Given the description of an element on the screen output the (x, y) to click on. 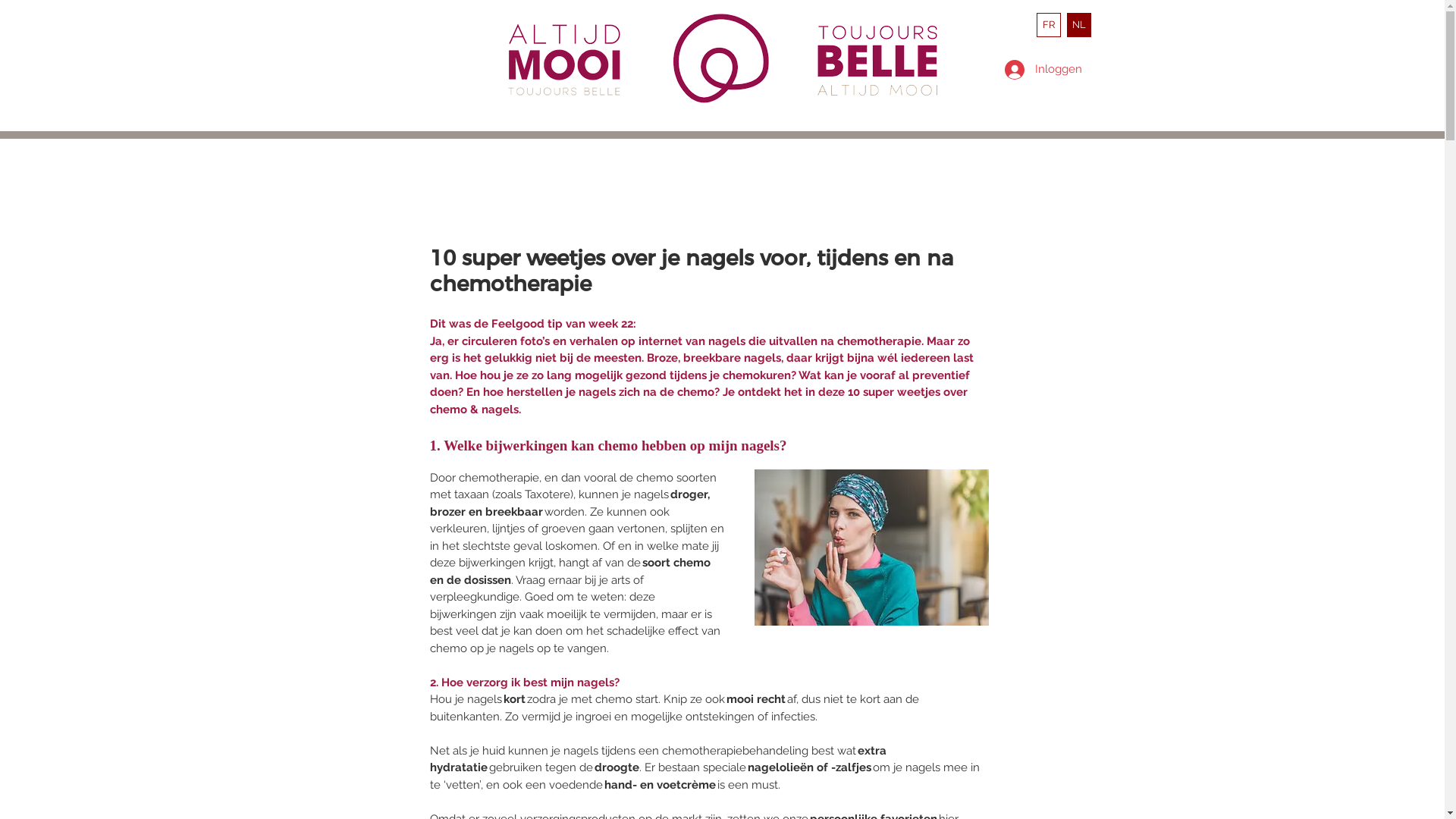
FR Element type: text (1047, 24)
ALTIJDMOOI_NLLOGOS_HRES_edited_edited.png Element type: hover (569, 59)
Inloggen Element type: text (1038, 68)
ALTIJDMOOI_FRLOGO_HRES_edited_edited.png Element type: hover (880, 60)
NL Element type: text (1078, 24)
